Given the description of an element on the screen output the (x, y) to click on. 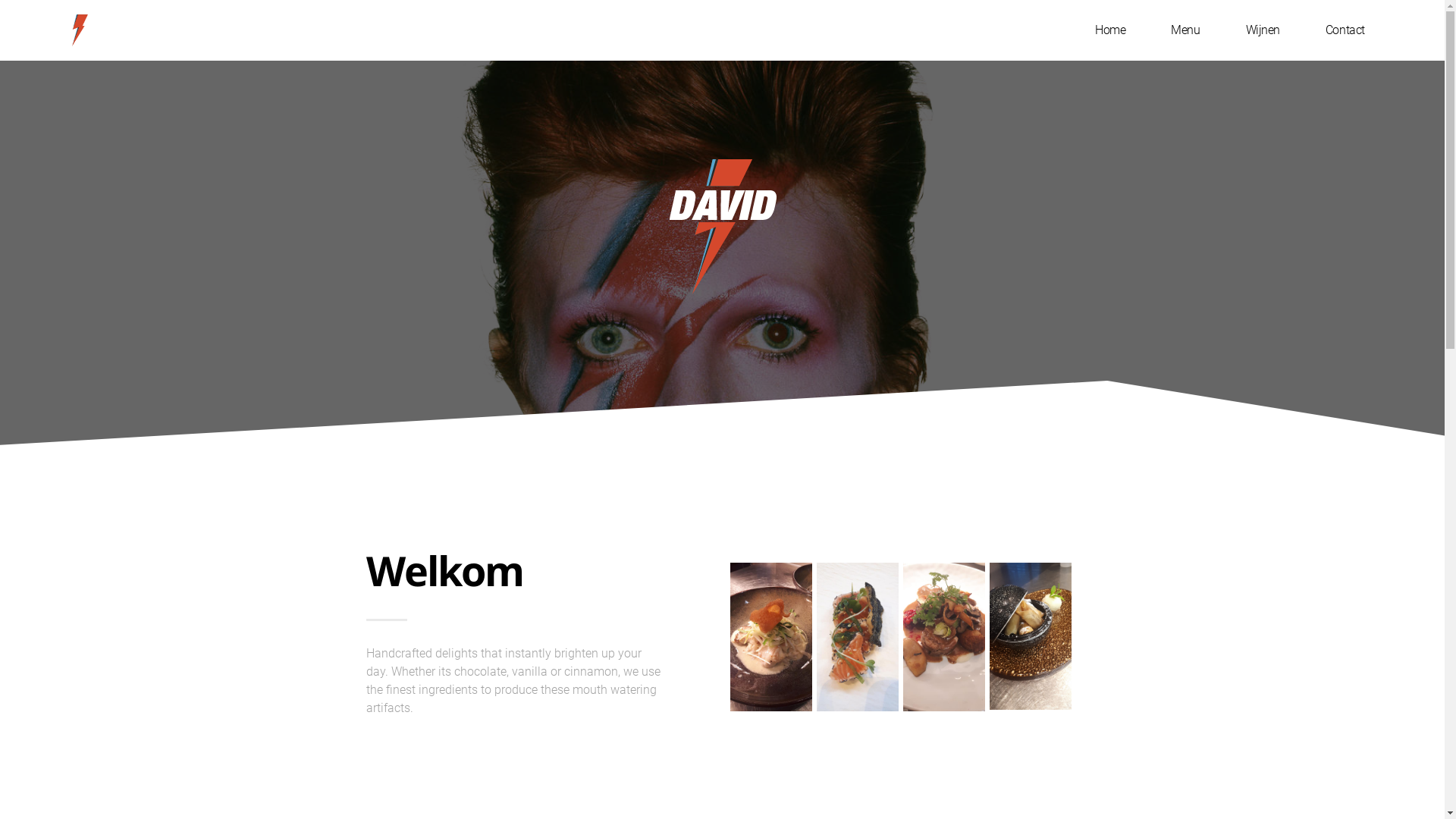
Home Element type: text (1109, 30)
Wijnen Element type: text (1262, 30)
Contact Element type: text (1344, 30)
Menu Element type: text (1185, 30)
